Given the description of an element on the screen output the (x, y) to click on. 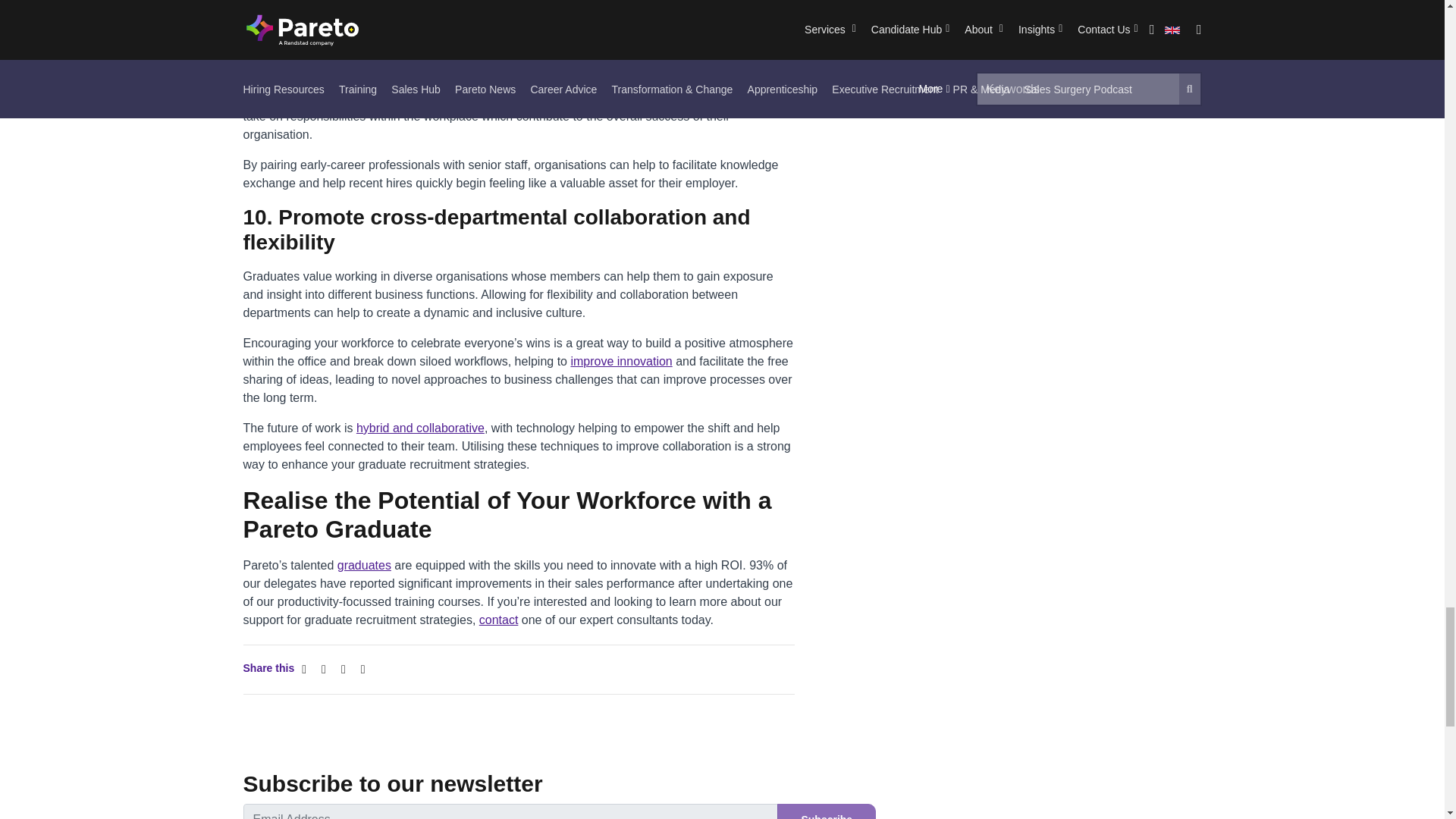
Subscribe (826, 811)
